Given the description of an element on the screen output the (x, y) to click on. 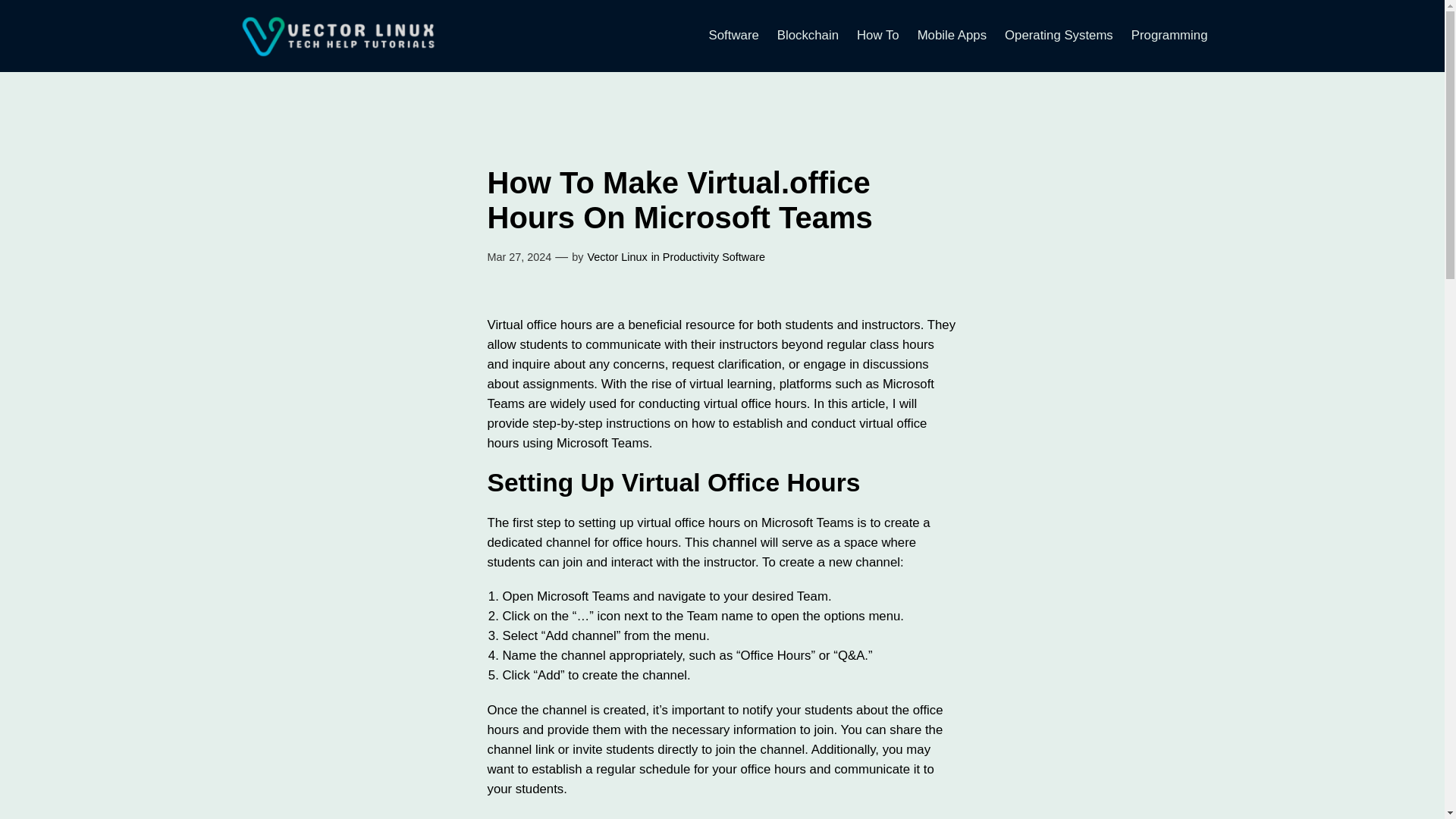
Programming (1169, 35)
Vector Linux (616, 256)
Mar 27, 2024 (518, 256)
Productivity Software (713, 256)
Blockchain (807, 35)
Mobile Apps (952, 35)
Operating Systems (1058, 35)
Software (733, 35)
How To (878, 35)
